Given the description of an element on the screen output the (x, y) to click on. 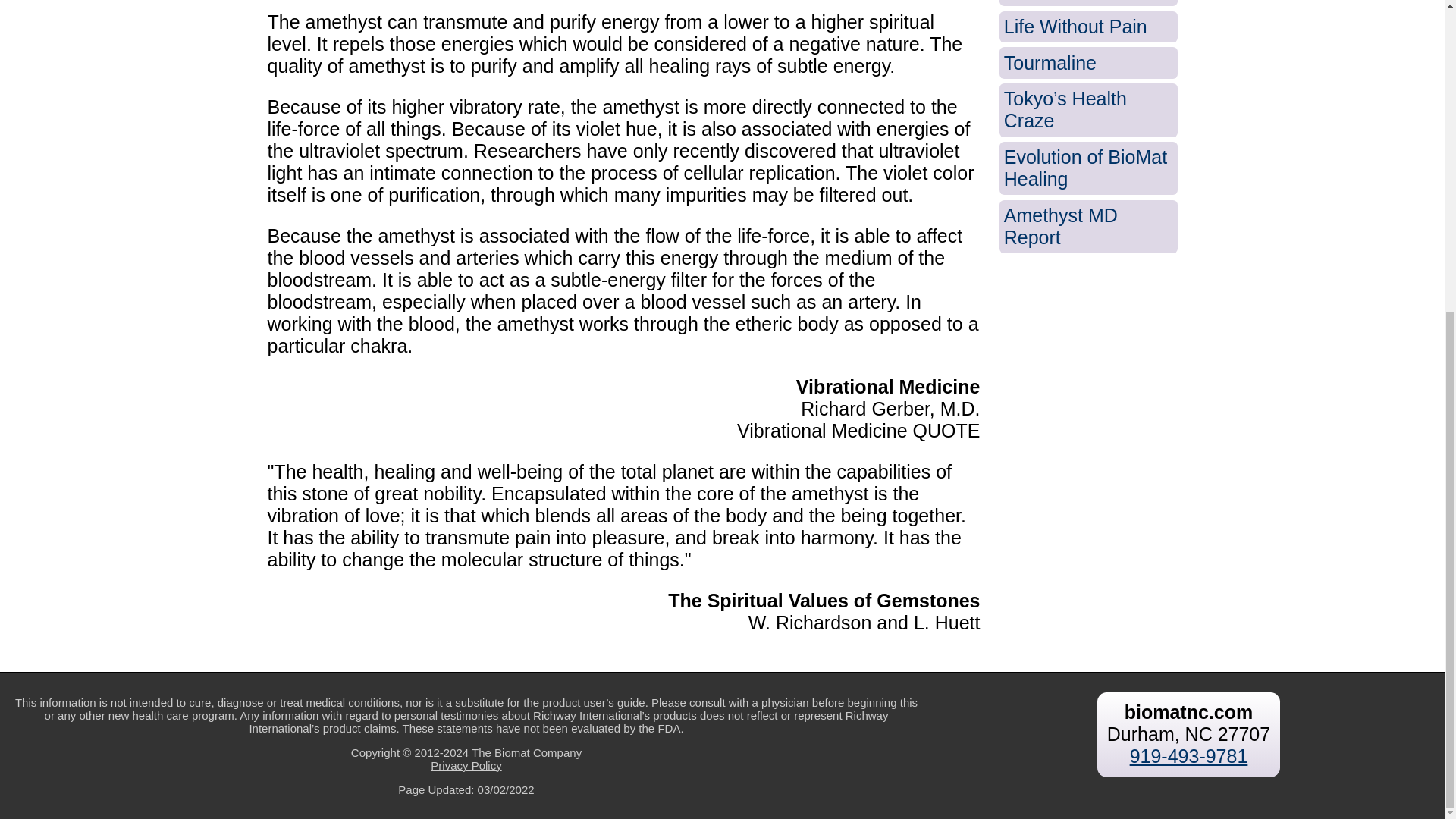
But Not Purified Water (1087, 3)
Life Without Pain (1087, 27)
